Given the description of an element on the screen output the (x, y) to click on. 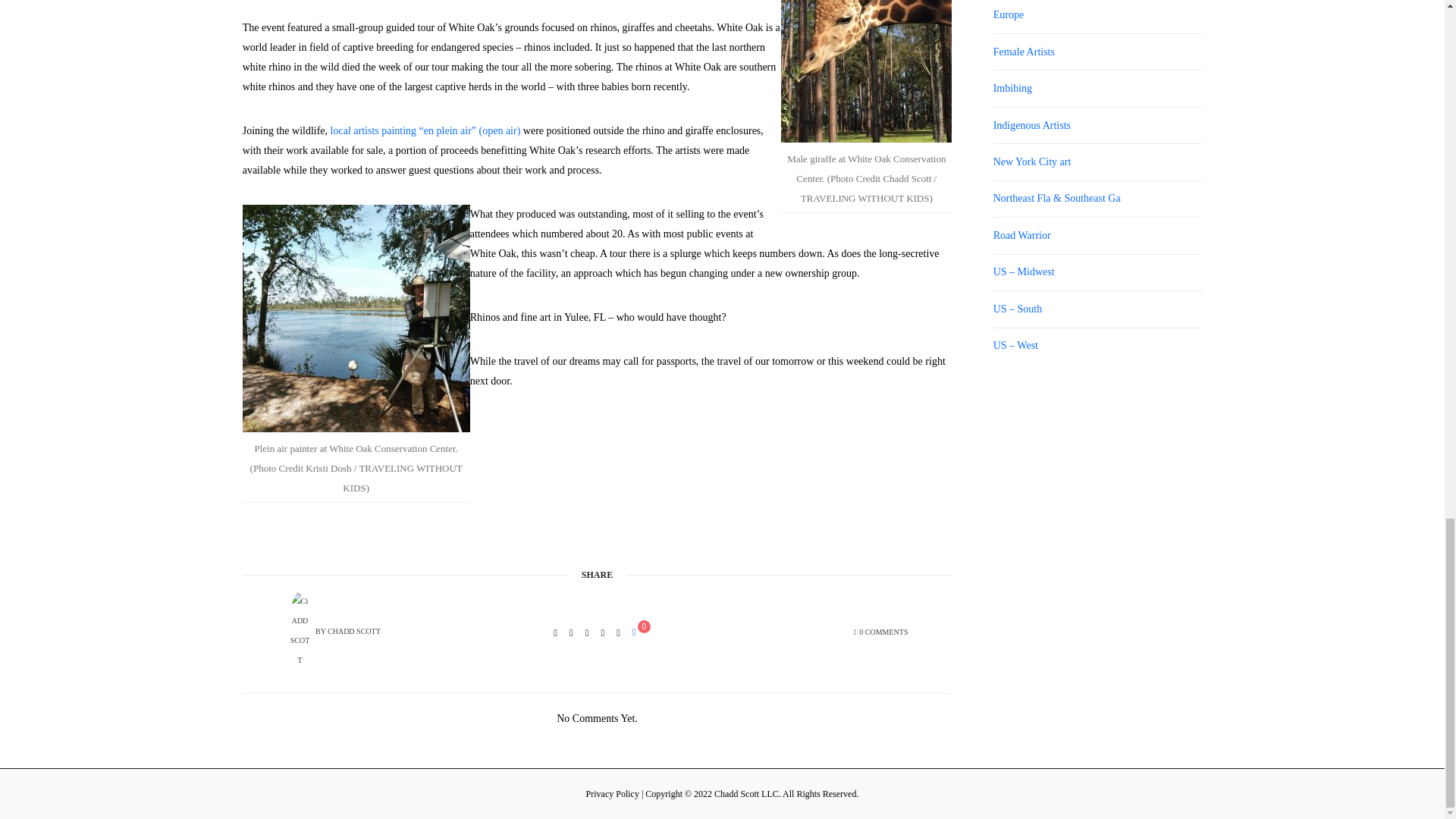
Posts by Chadd Scott (353, 631)
